Given the description of an element on the screen output the (x, y) to click on. 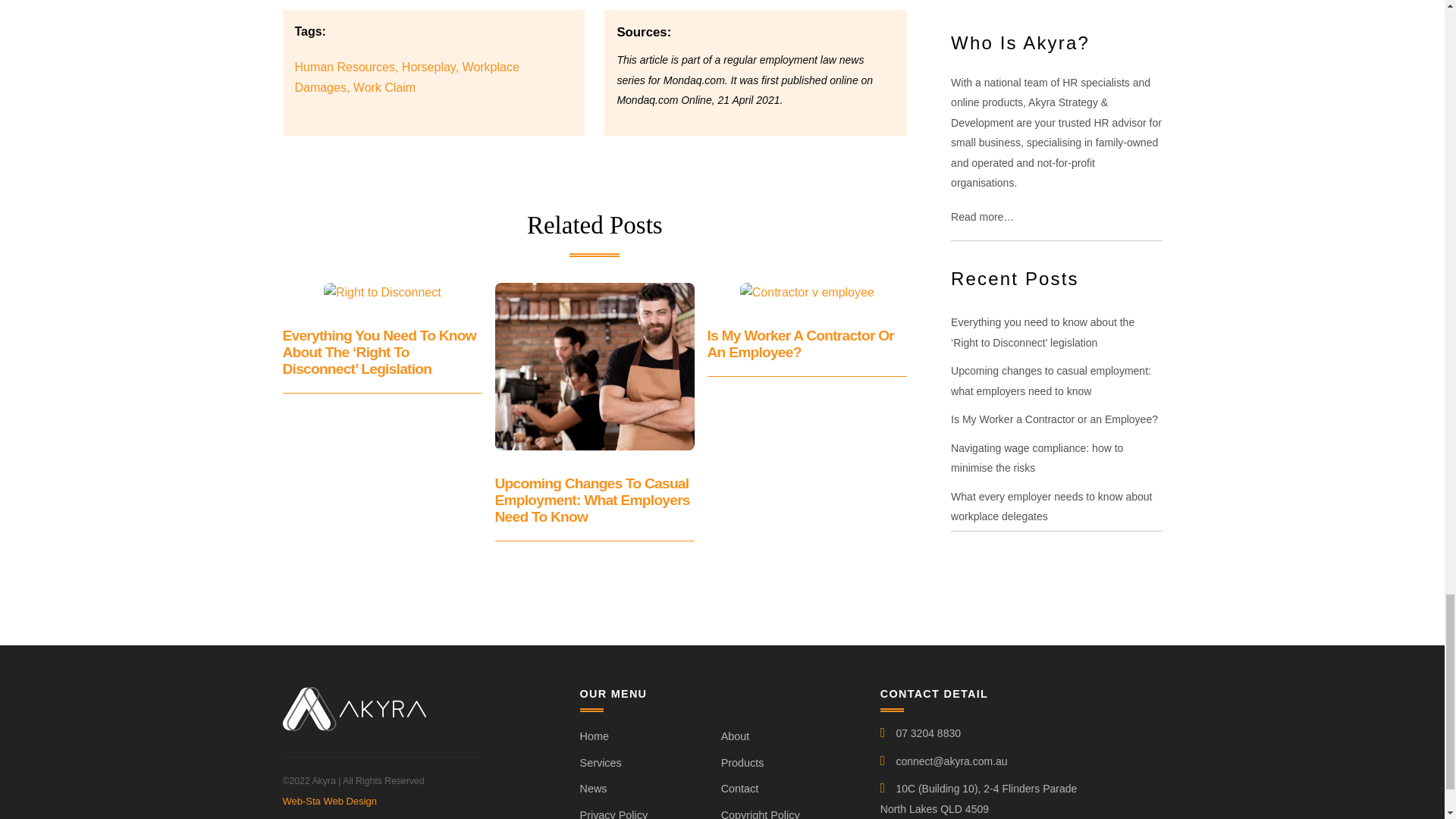
Contractor v employee (807, 292)
Akyra (353, 724)
Right to Disconnect (382, 292)
